Given the description of an element on the screen output the (x, y) to click on. 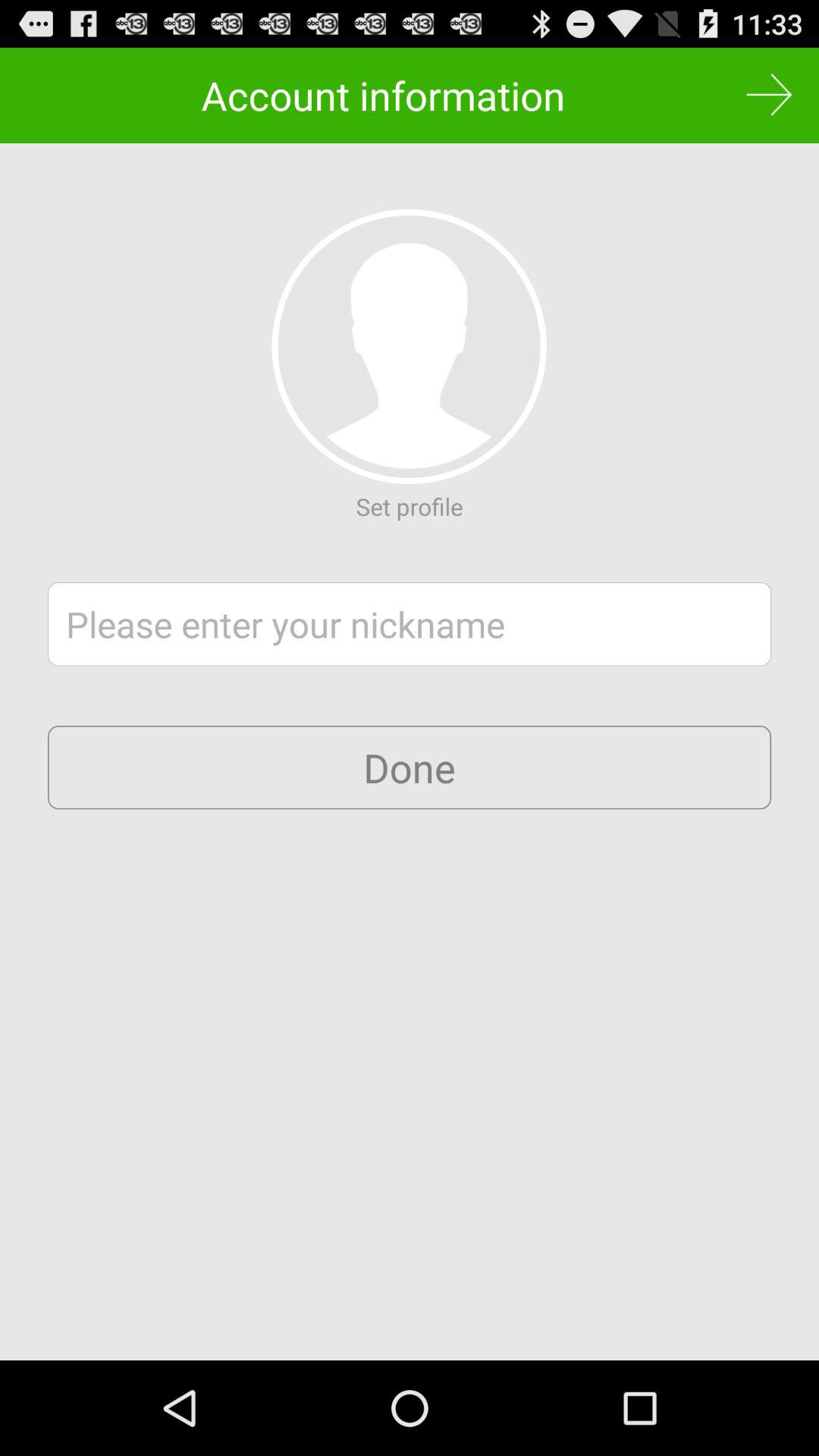
launch icon next to the account information icon (769, 95)
